Given the description of an element on the screen output the (x, y) to click on. 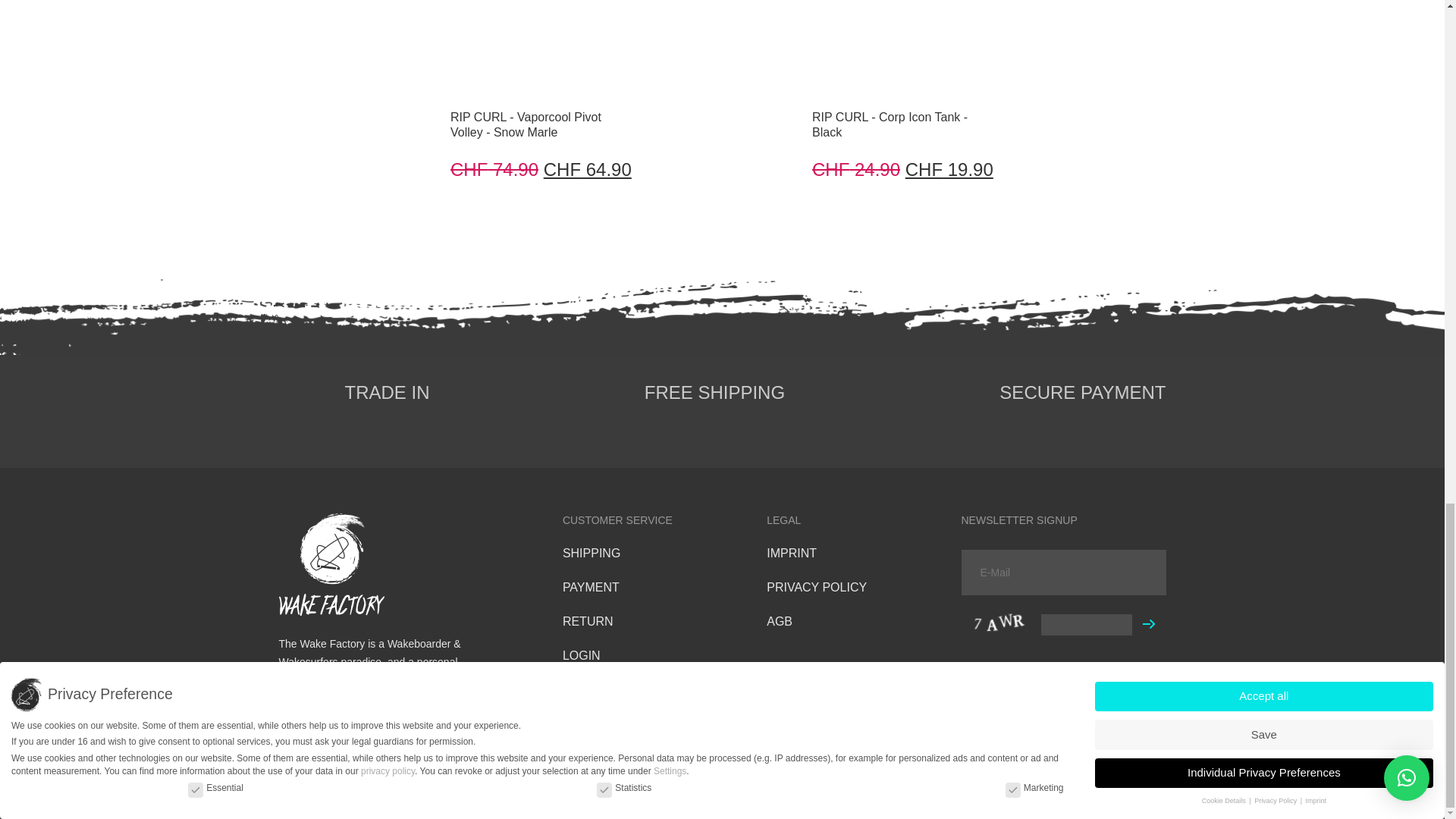
Send (1147, 623)
LOGIN (903, 90)
PAYMENT (580, 655)
CONTACT (591, 586)
SHIPPING (591, 689)
RETURN (591, 553)
IMPRINT (587, 621)
